Given the description of an element on the screen output the (x, y) to click on. 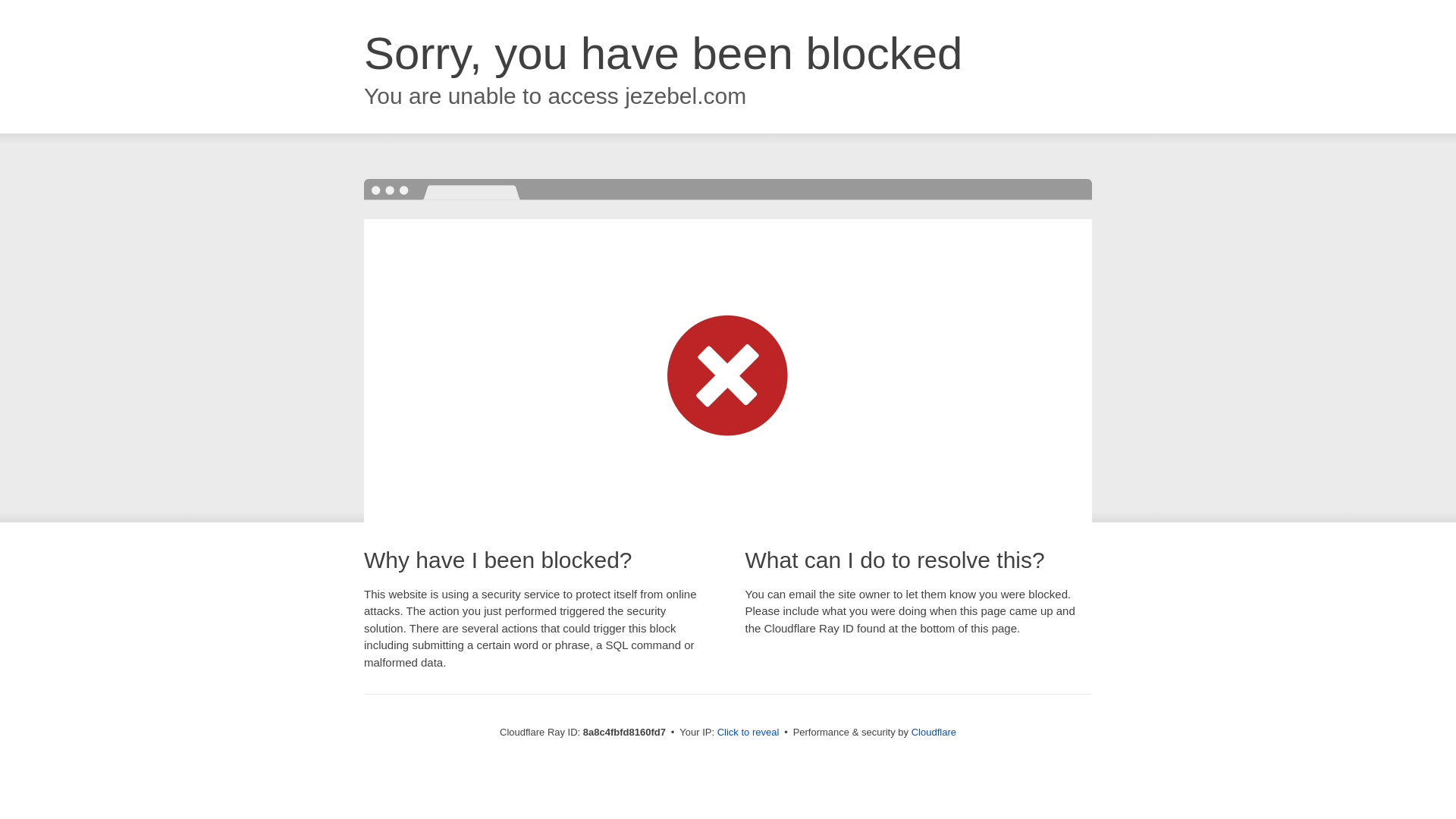
Cloudflare (933, 731)
Click to reveal (747, 732)
